Given the description of an element on the screen output the (x, y) to click on. 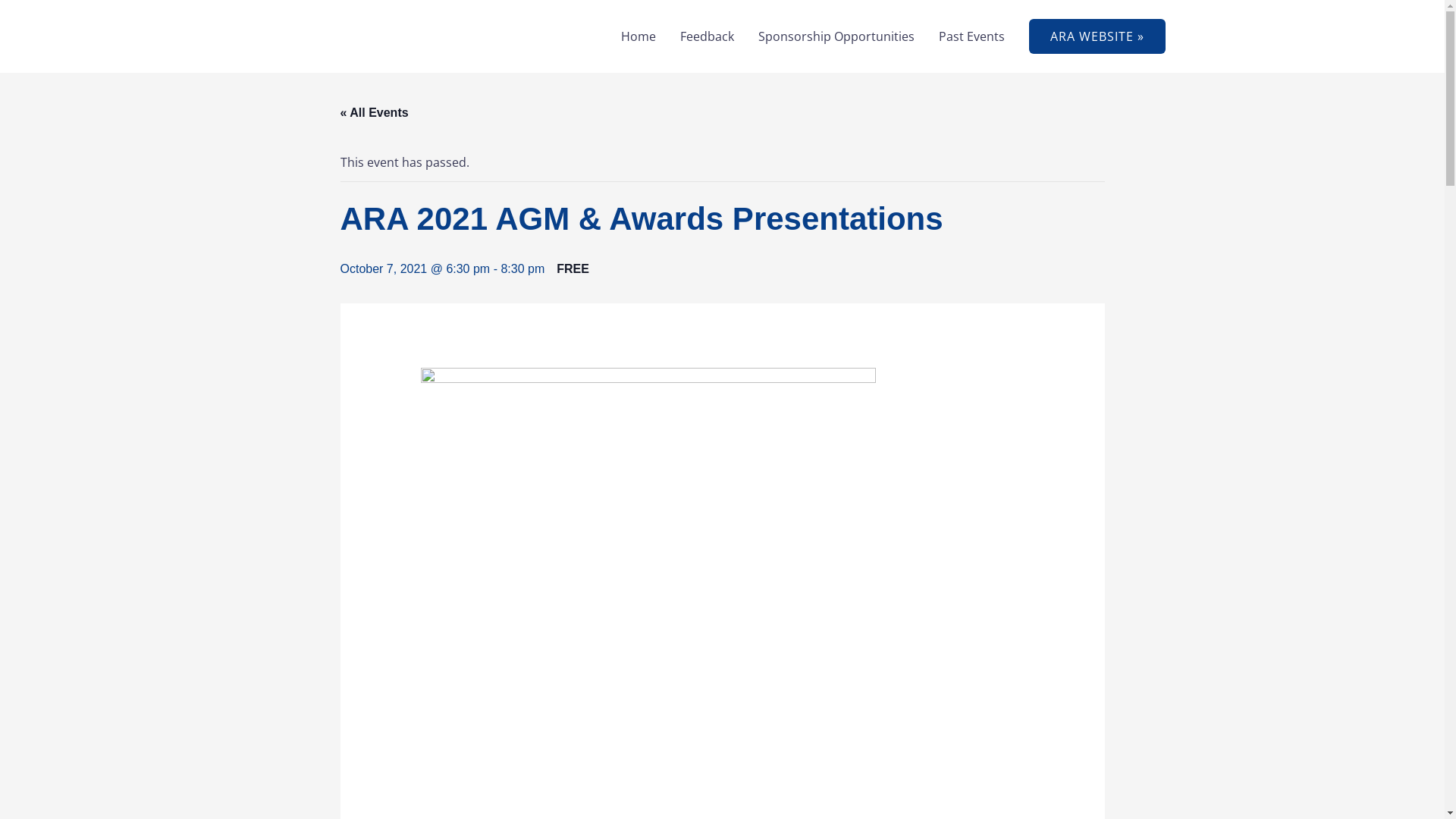
Sponsorship Opportunities Element type: text (836, 36)
Feedback Element type: text (706, 36)
Past Events Element type: text (971, 36)
Home Element type: text (637, 36)
